Given the description of an element on the screen output the (x, y) to click on. 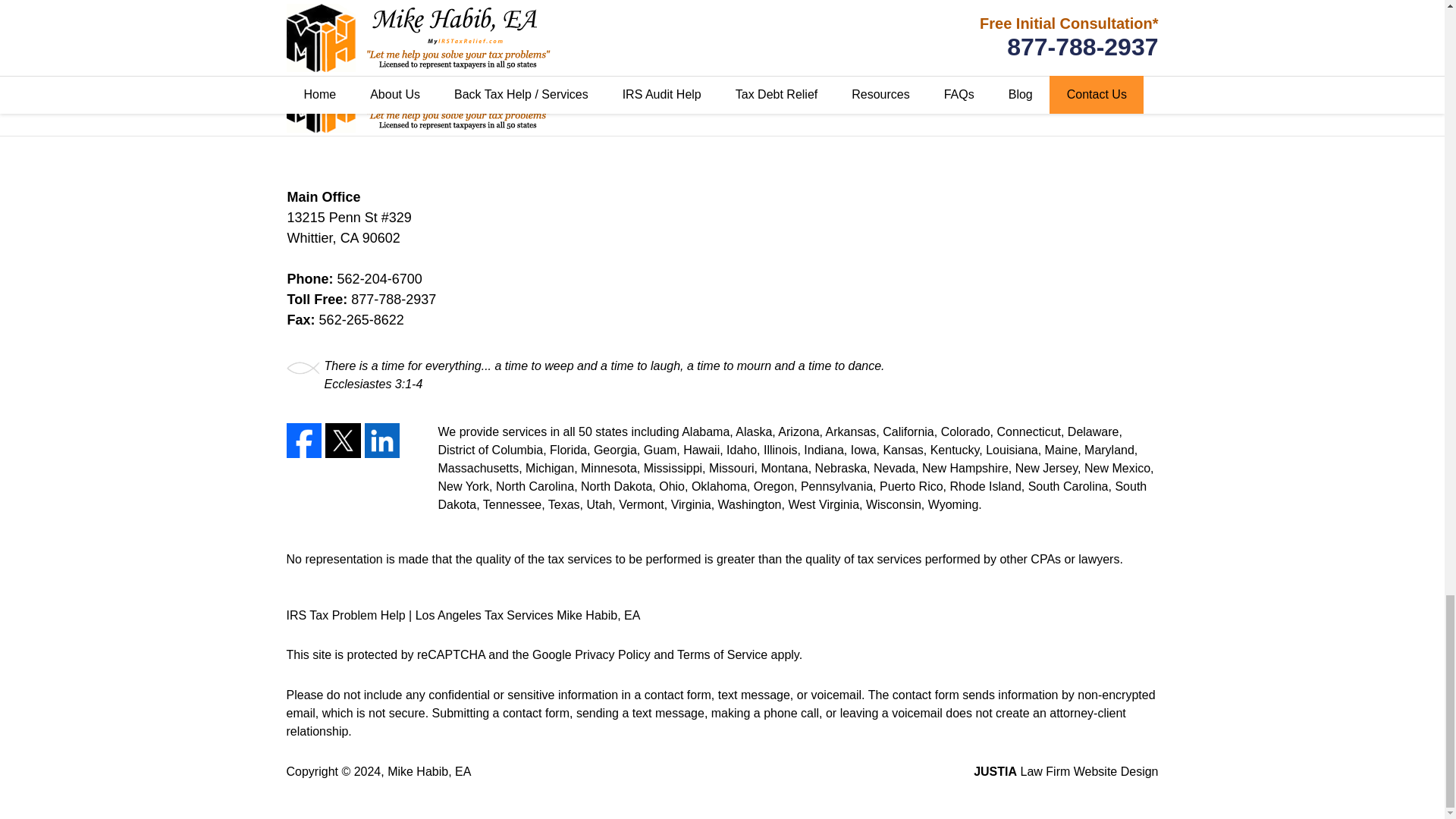
Twitter (342, 440)
Facebook (303, 440)
LinkedIn (382, 440)
